Given the description of an element on the screen output the (x, y) to click on. 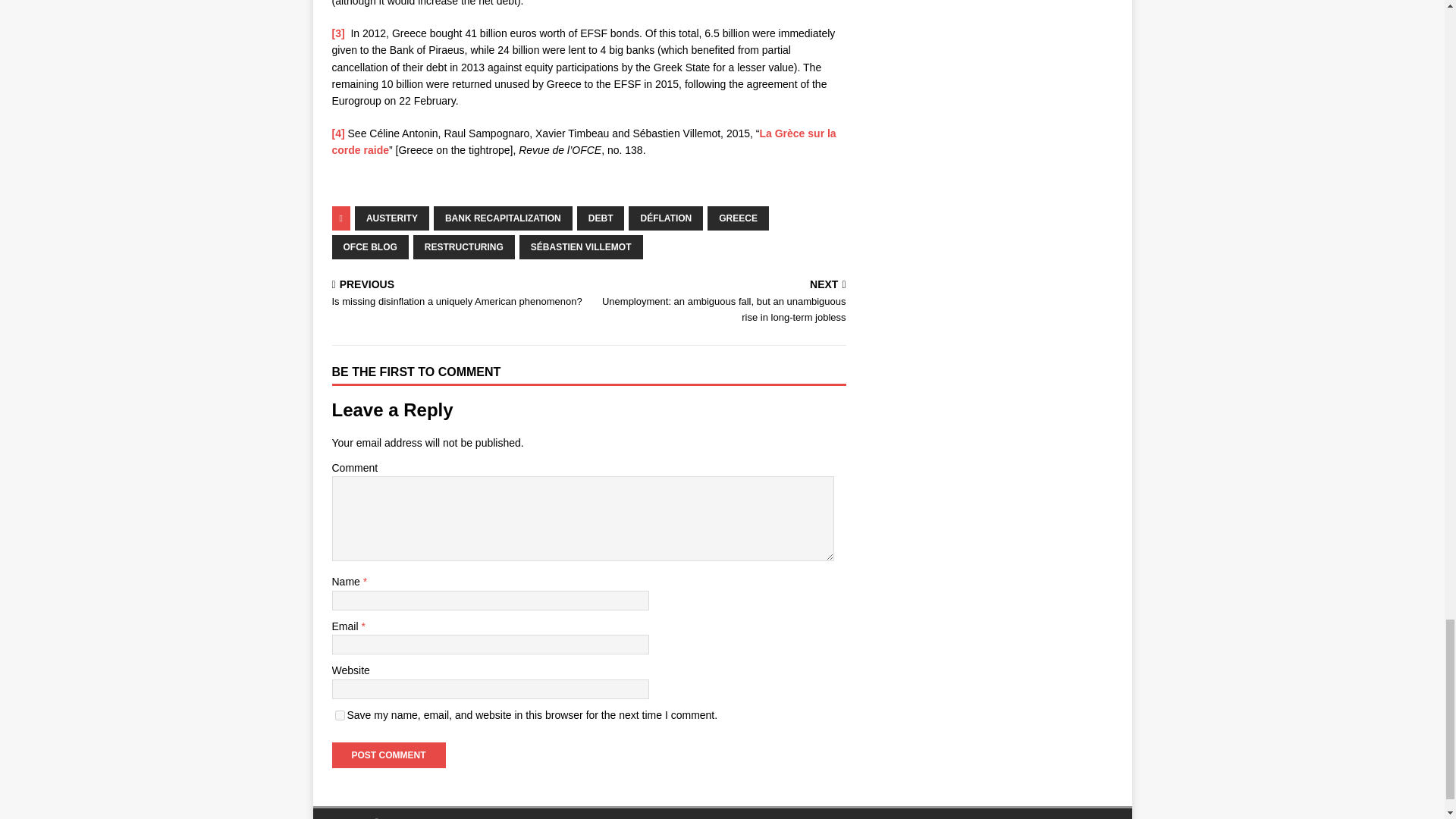
DEBT (600, 218)
yes (339, 715)
BANK RECAPITALIZATION (502, 218)
GREECE (737, 218)
RESTRUCTURING (464, 247)
Post Comment (388, 755)
AUSTERITY (392, 218)
Post Comment (388, 755)
OFCE BLOG (370, 247)
